Given the description of an element on the screen output the (x, y) to click on. 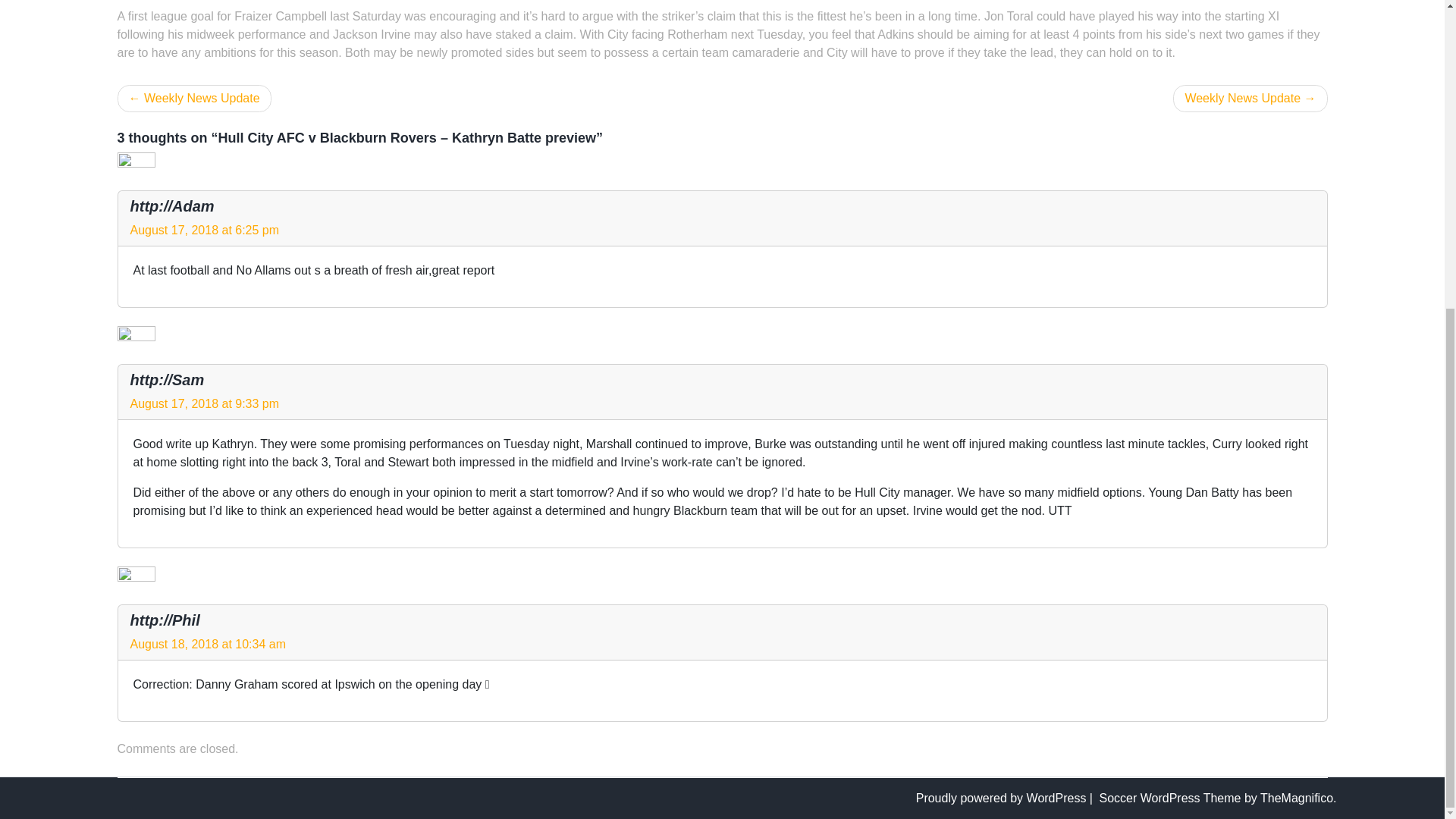
Proudly powered by WordPress (1002, 797)
August 17, 2018 at 6:25 pm (205, 229)
Soccer WordPress Theme (1171, 797)
August 18, 2018 at 10:34 am (208, 644)
Weekly News Update (193, 98)
August 17, 2018 at 9:33 pm (205, 403)
Weekly News Update (1249, 98)
